Given the description of an element on the screen output the (x, y) to click on. 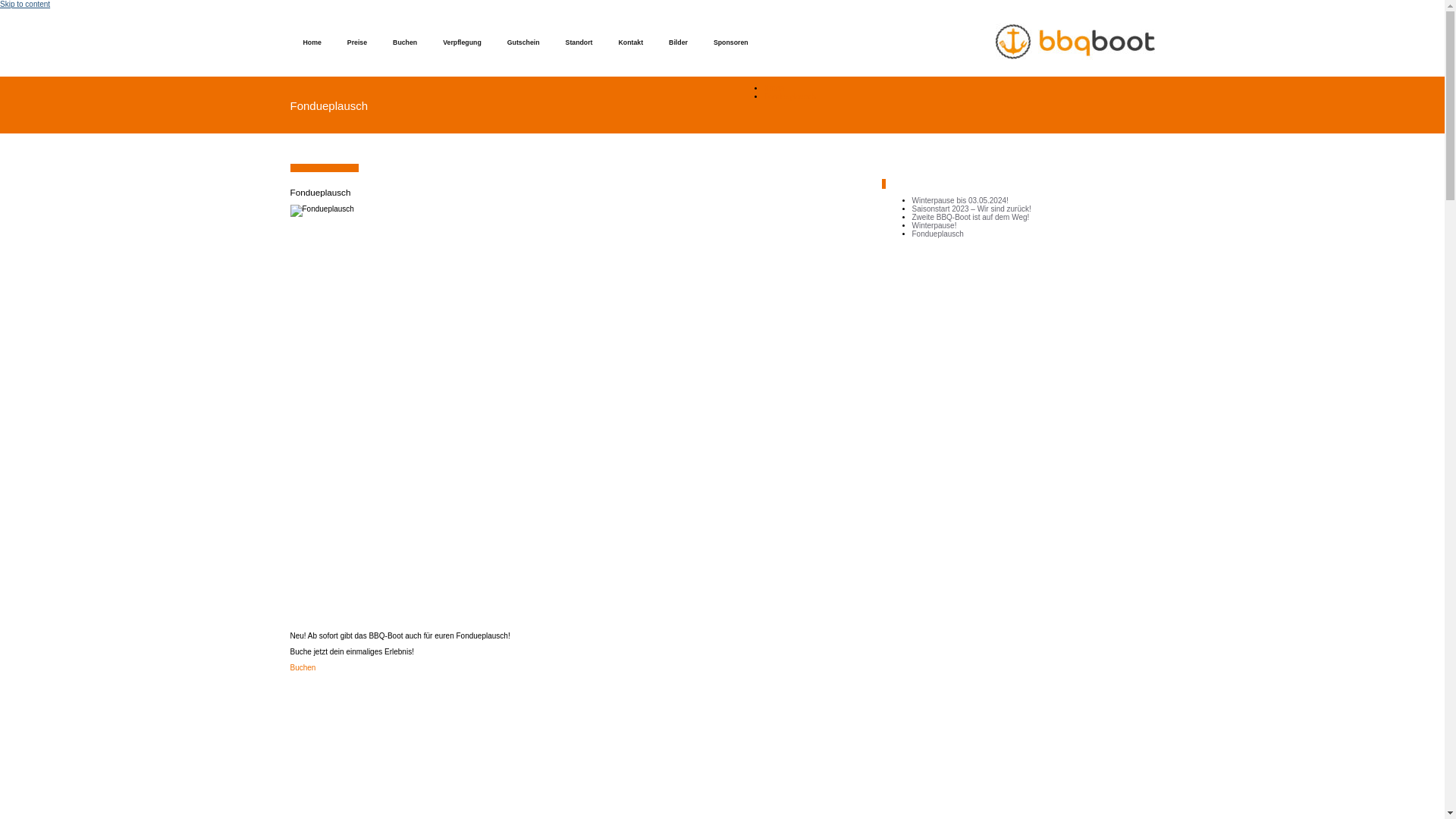
Skip to content Element type: text (25, 4)
Buchen Element type: text (404, 42)
Bilder Element type: text (677, 42)
Home Element type: text (774, 88)
18. September 2021 Element type: text (323, 167)
Fondueplausch Element type: text (937, 233)
Preise Element type: text (356, 42)
Zweite BBQ-Boot ist auf dem Weg! Element type: text (970, 217)
Home Element type: text (311, 42)
Standort Element type: text (578, 42)
Kontakt Element type: text (630, 42)
Winterpause bis 03.05.2024! Element type: text (959, 200)
Buchen Element type: text (302, 666)
Gutschein Element type: text (523, 42)
Fondueplausch Element type: text (789, 96)
Winterpause! Element type: text (933, 225)
Sponsoren Element type: text (730, 42)
Verpflegung Element type: text (461, 42)
